Given the description of an element on the screen output the (x, y) to click on. 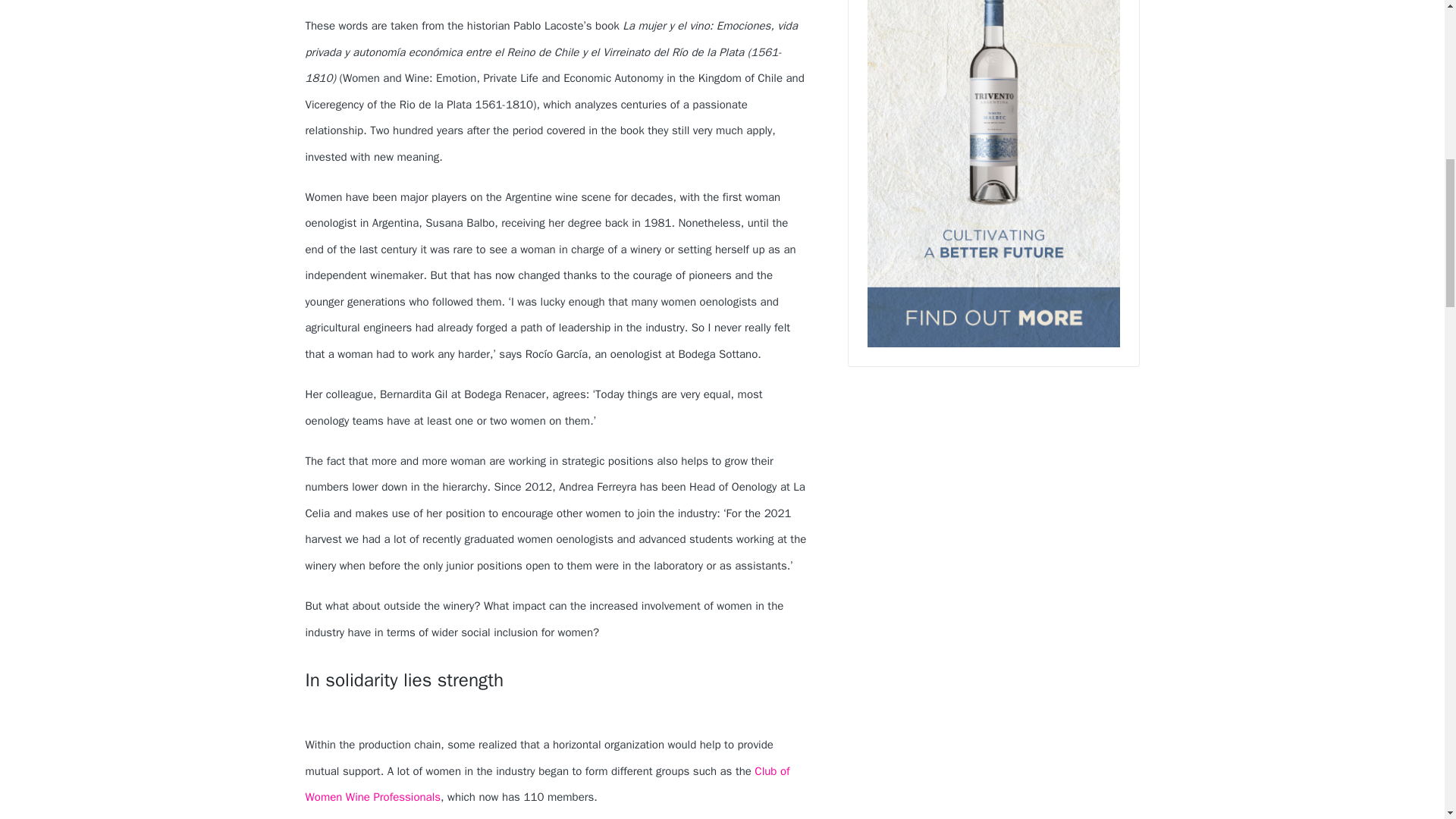
Club of Women Wine Professionals (546, 784)
TRIVENTO (993, 173)
